Given the description of an element on the screen output the (x, y) to click on. 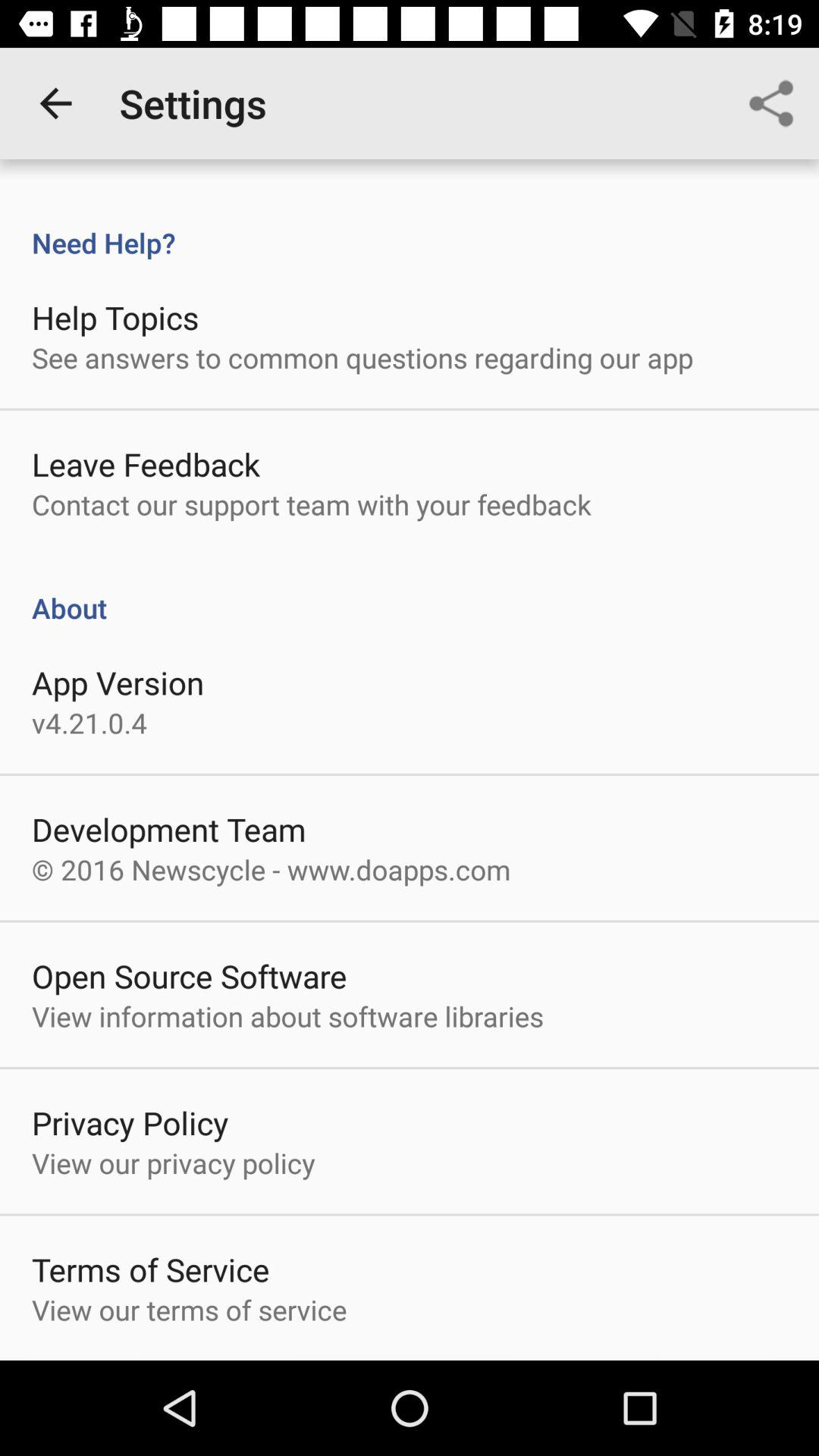
scroll until see answers to icon (362, 357)
